Given the description of an element on the screen output the (x, y) to click on. 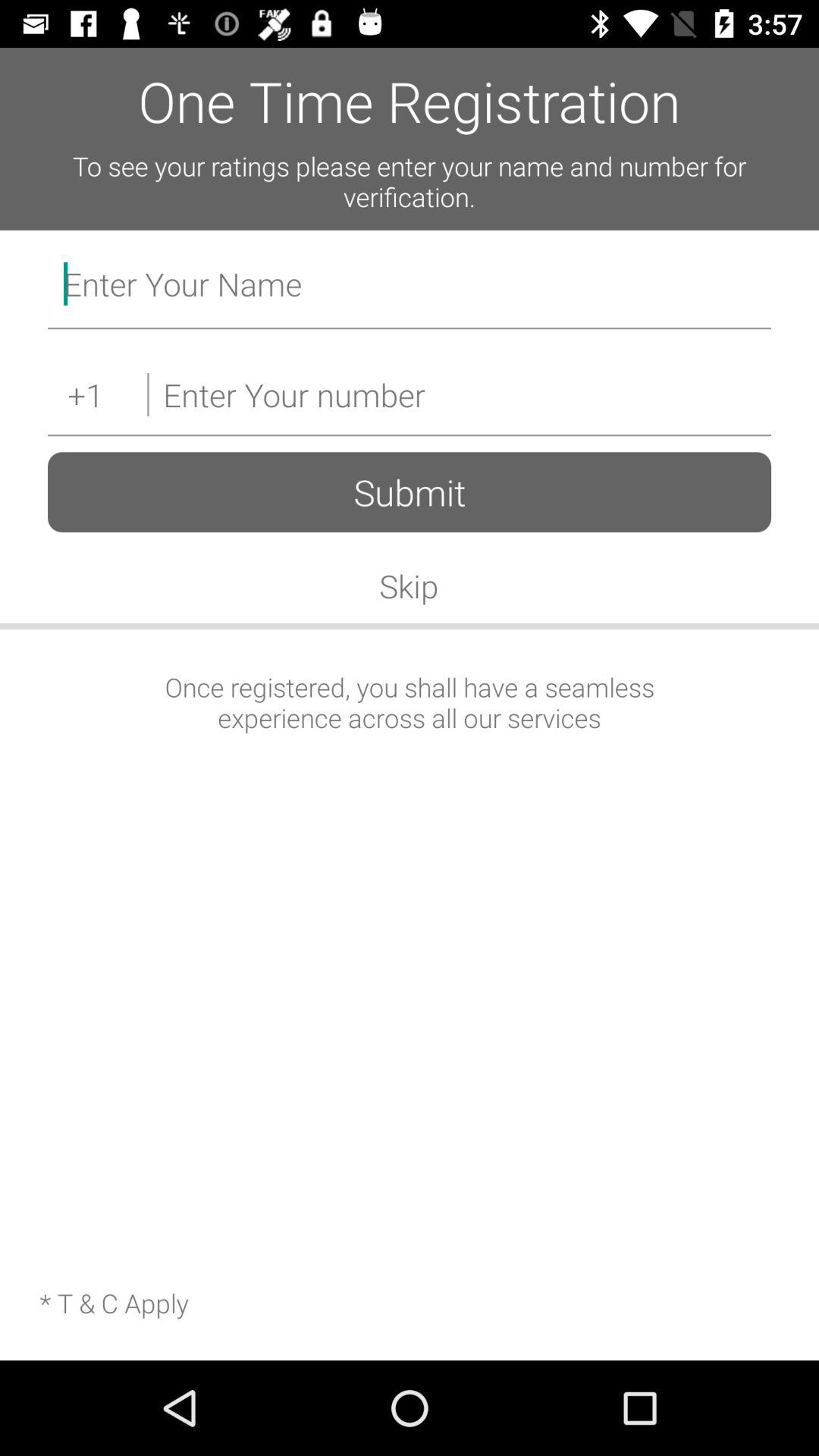
tap the submit item (409, 492)
